Given the description of an element on the screen output the (x, y) to click on. 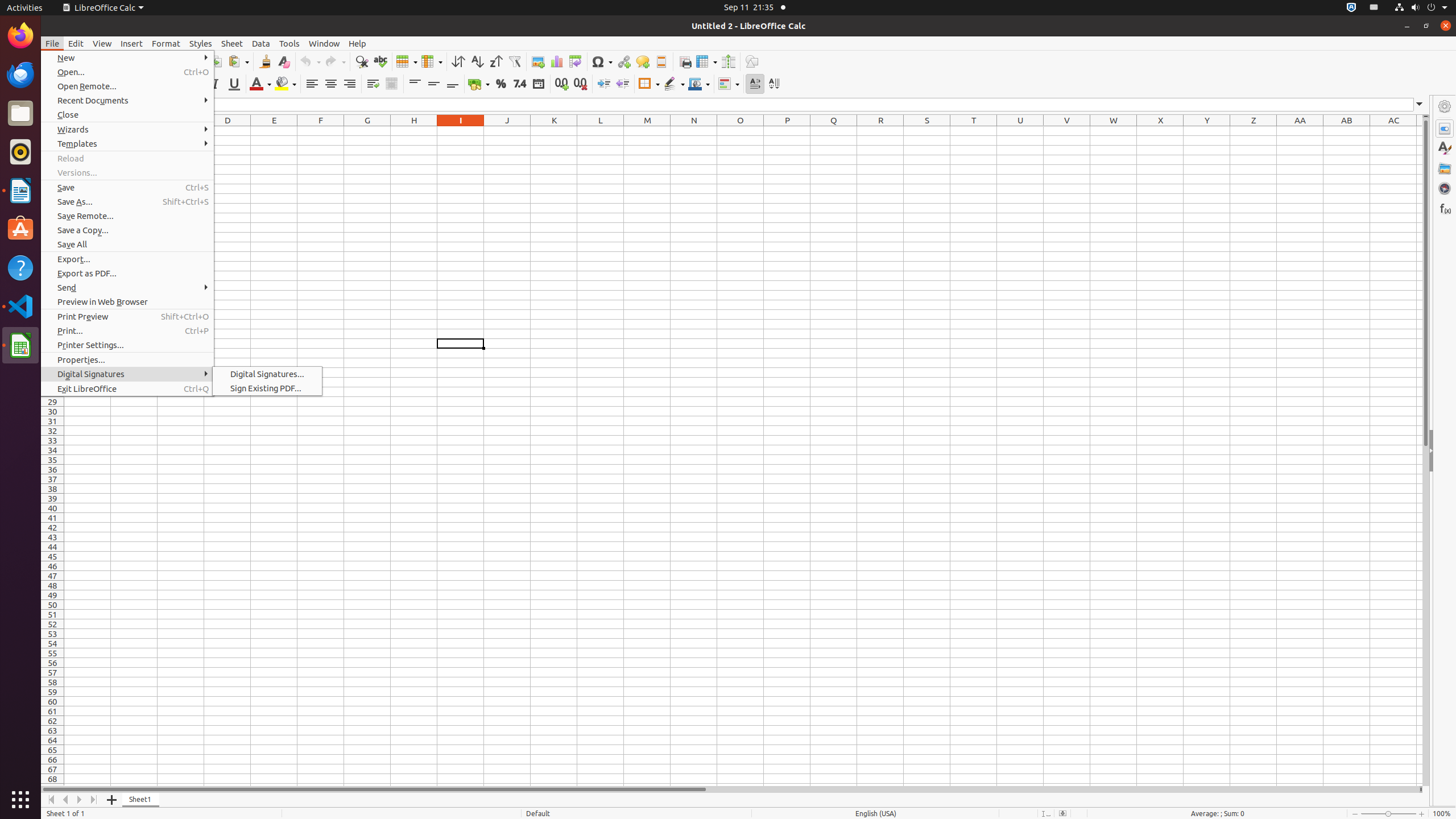
Find & Replace Element type: toggle-button (361, 61)
E1 Element type: table-cell (273, 130)
O1 Element type: table-cell (740, 130)
Number Element type: push-button (519, 83)
Digital Signatures Element type: menu (126, 373)
